Given the description of an element on the screen output the (x, y) to click on. 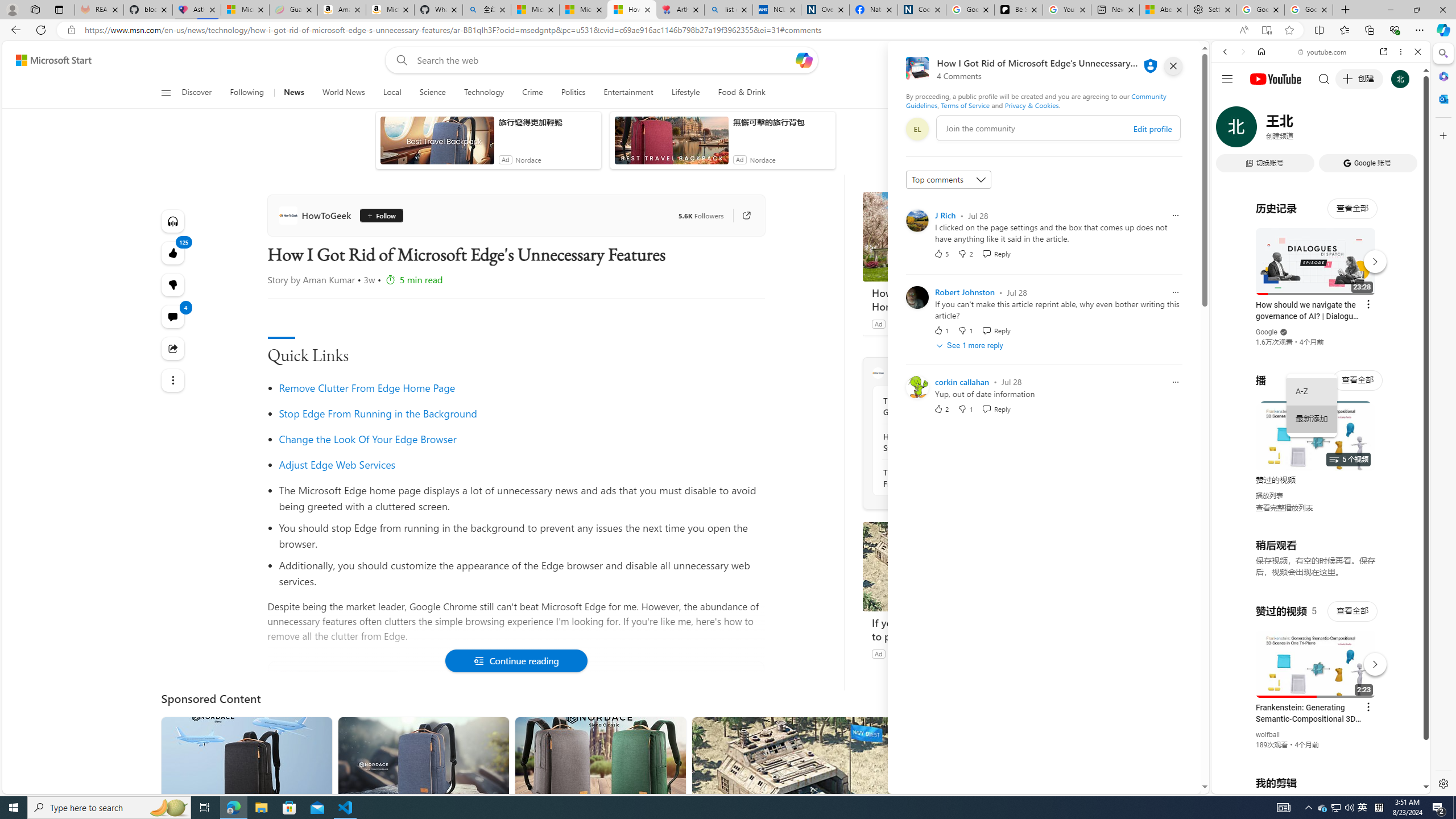
125 (172, 284)
Sort comments by (948, 179)
Skip to content (49, 59)
Trailer #2 [HD] (1320, 337)
US[ju] (1249, 785)
Skip to footer (46, 59)
Google (1320, 281)
